Given the description of an element on the screen output the (x, y) to click on. 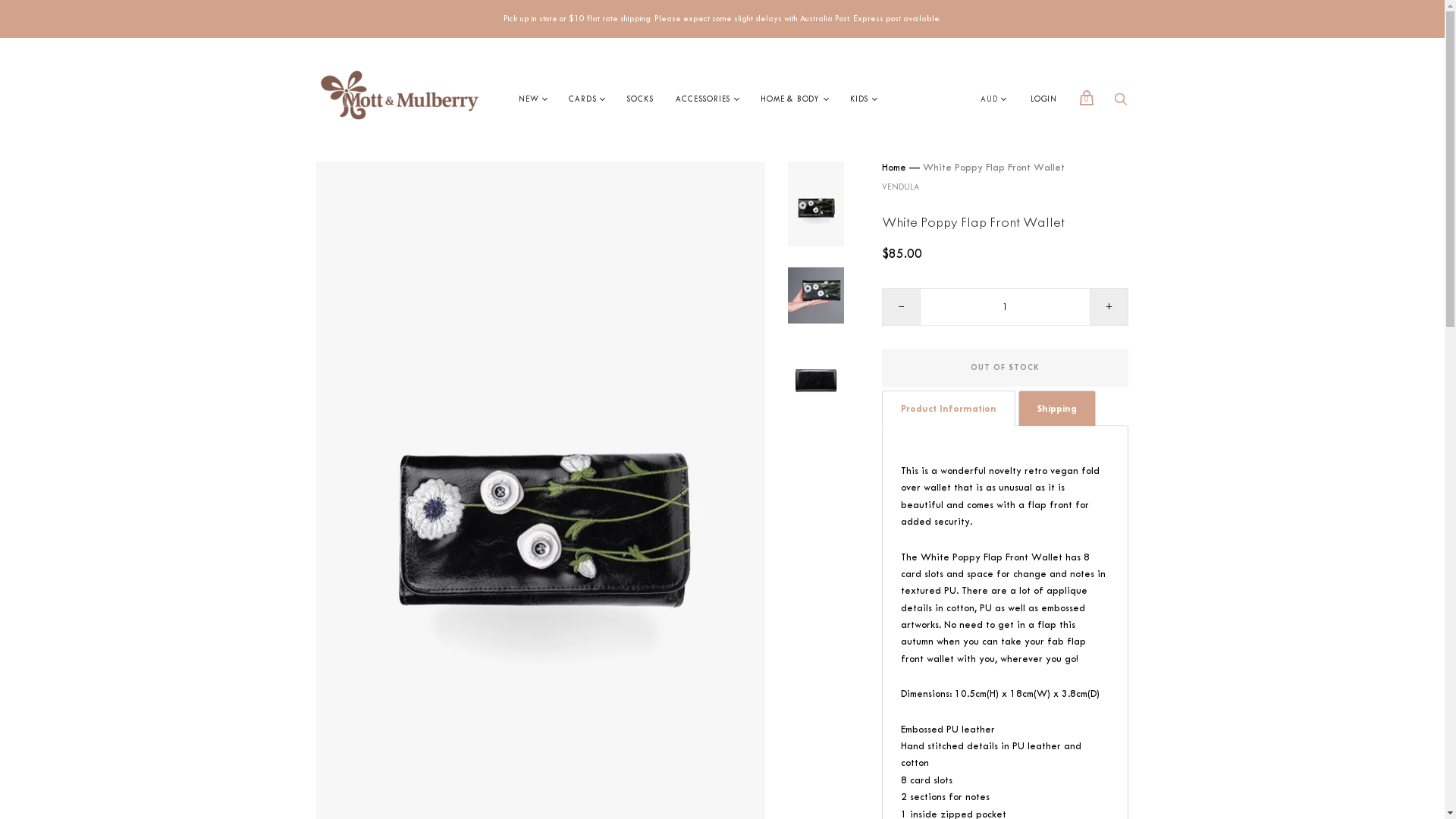
Translation missing: en.customer.login.sign_in Element type: text (722, 237)
0 Element type: text (1086, 97)
HOME & BODY Element type: text (790, 99)
LOGIN Element type: text (1043, 99)
ACCESSORIES Element type: text (702, 99)
KIDS Element type: text (858, 99)
Product Information Element type: text (948, 408)
OUT OF STOCK Element type: text (1004, 367)
VENDULA Element type: text (900, 186)
Home Element type: text (893, 166)
CARDS Element type: text (582, 99)
SOCKS Element type: text (639, 99)
Shipping Element type: text (1056, 408)
+ Element type: text (1109, 307)
NEW Element type: text (528, 99)
